Given the description of an element on the screen output the (x, y) to click on. 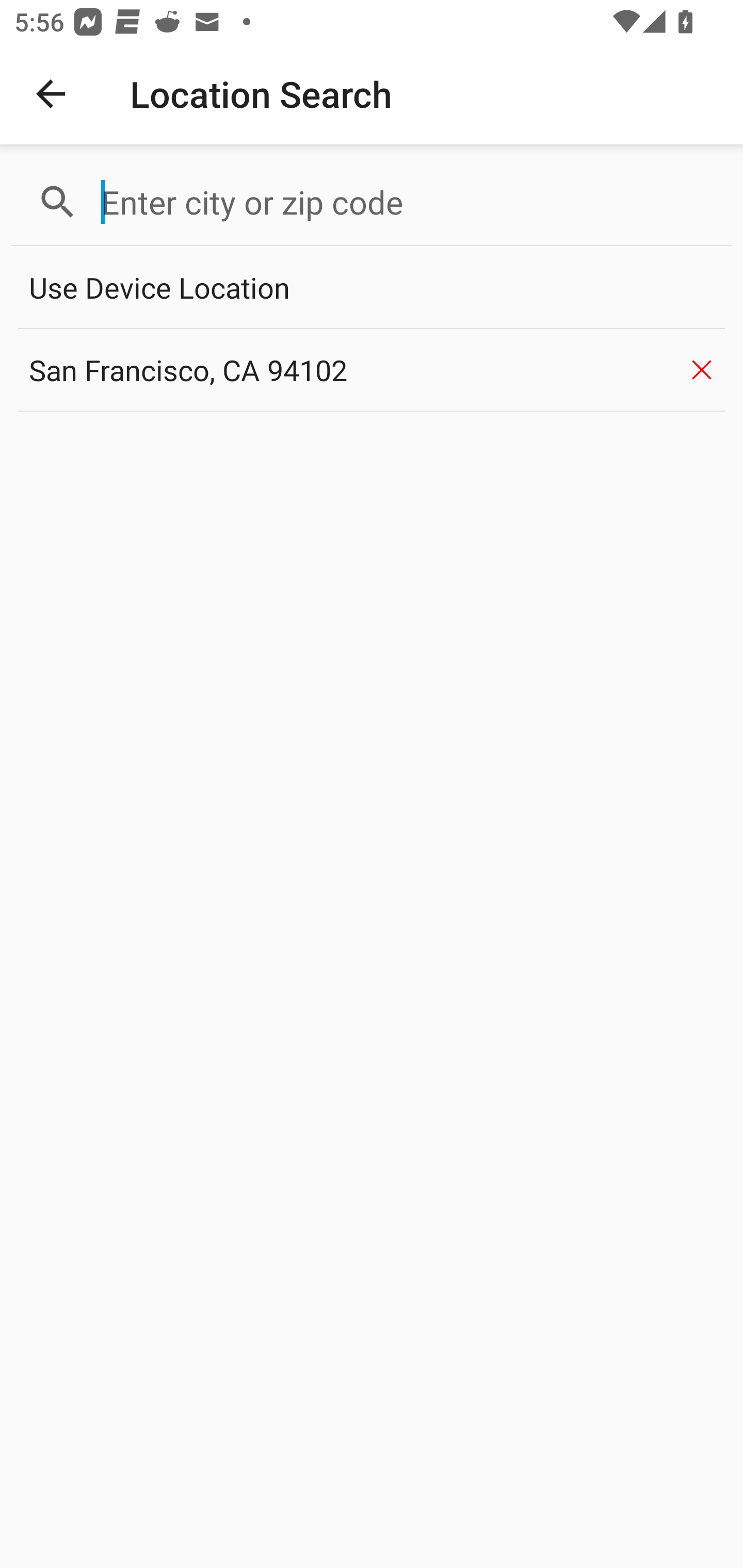
Navigate up (50, 93)
Enter city or zip code (407, 202)
Use Device Location (371, 287)
